Given the description of an element on the screen output the (x, y) to click on. 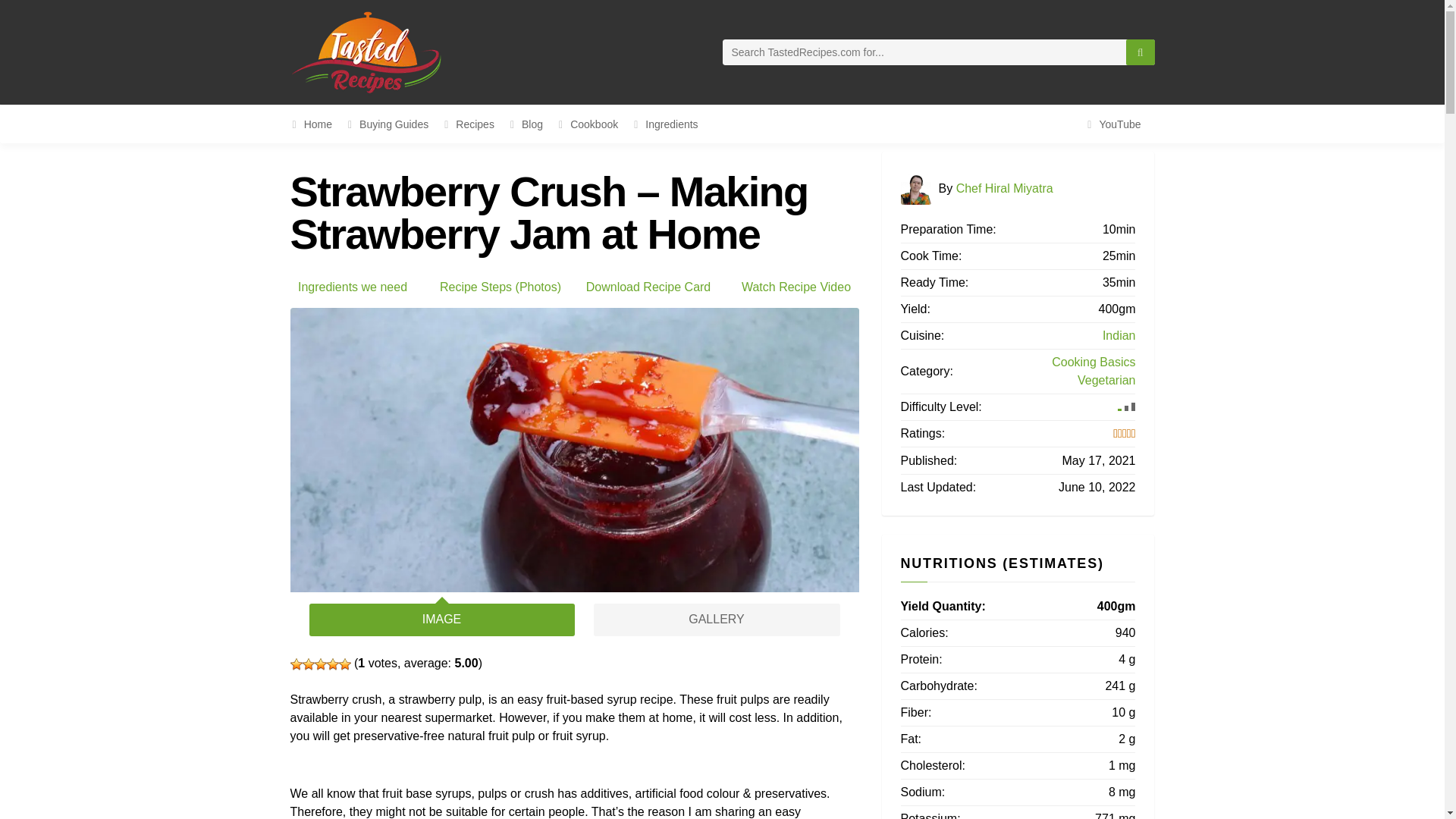
Chef Hiral Miyatra (1004, 186)
4 Stars (331, 664)
Indian (1118, 335)
1 Star (295, 664)
Cooking Basics (1093, 361)
3 Stars (320, 664)
IMAGE (441, 619)
2 Stars (307, 664)
Ingredients we need (352, 286)
GALLERY (716, 619)
